Given the description of an element on the screen output the (x, y) to click on. 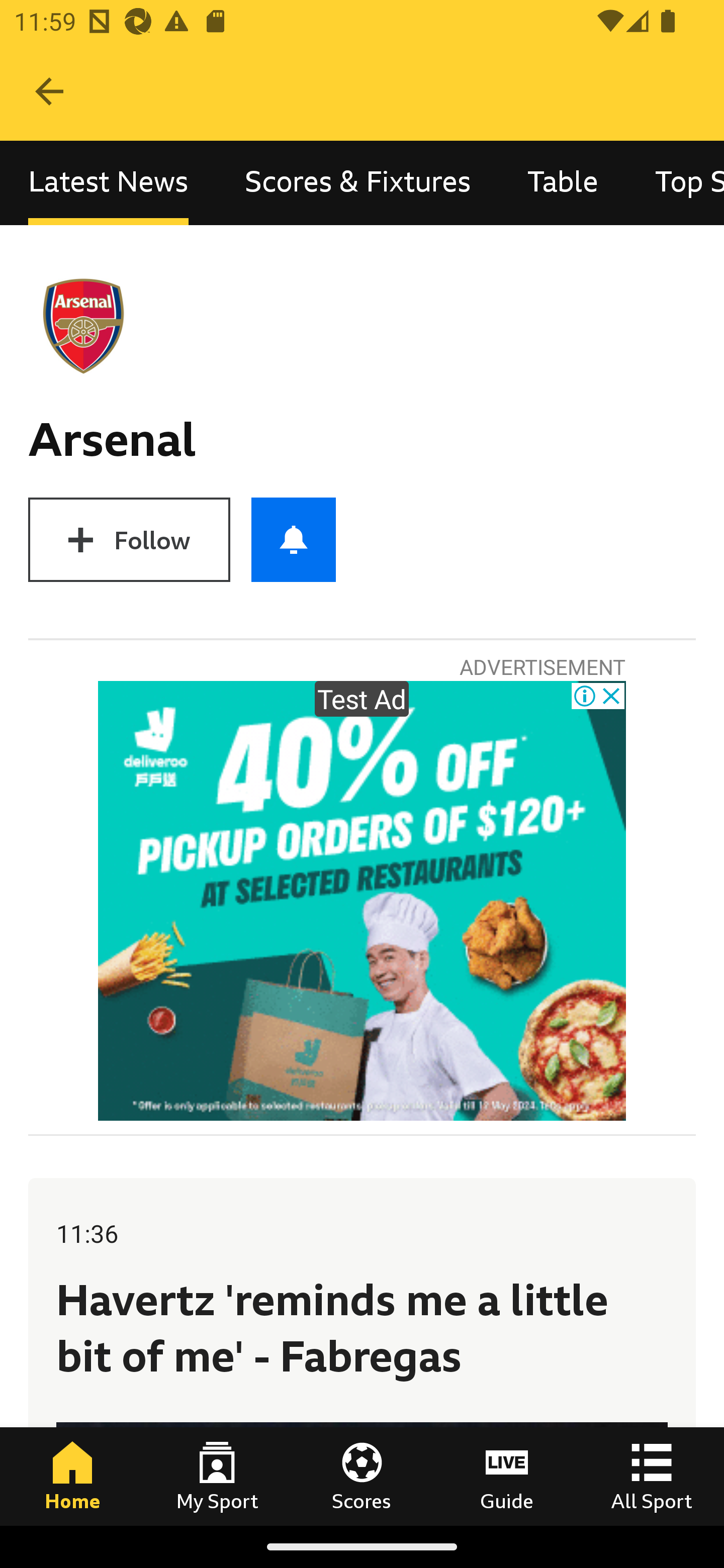
Navigate up (49, 91)
Latest News, selected Latest News (108, 183)
Scores & Fixtures (357, 183)
Table (562, 183)
Follow Arsenal Follow (129, 539)
Push notifications for Arsenal (293, 539)
Advertisement (361, 900)
My Sport (216, 1475)
Scores (361, 1475)
Guide (506, 1475)
All Sport (651, 1475)
